Given the description of an element on the screen output the (x, y) to click on. 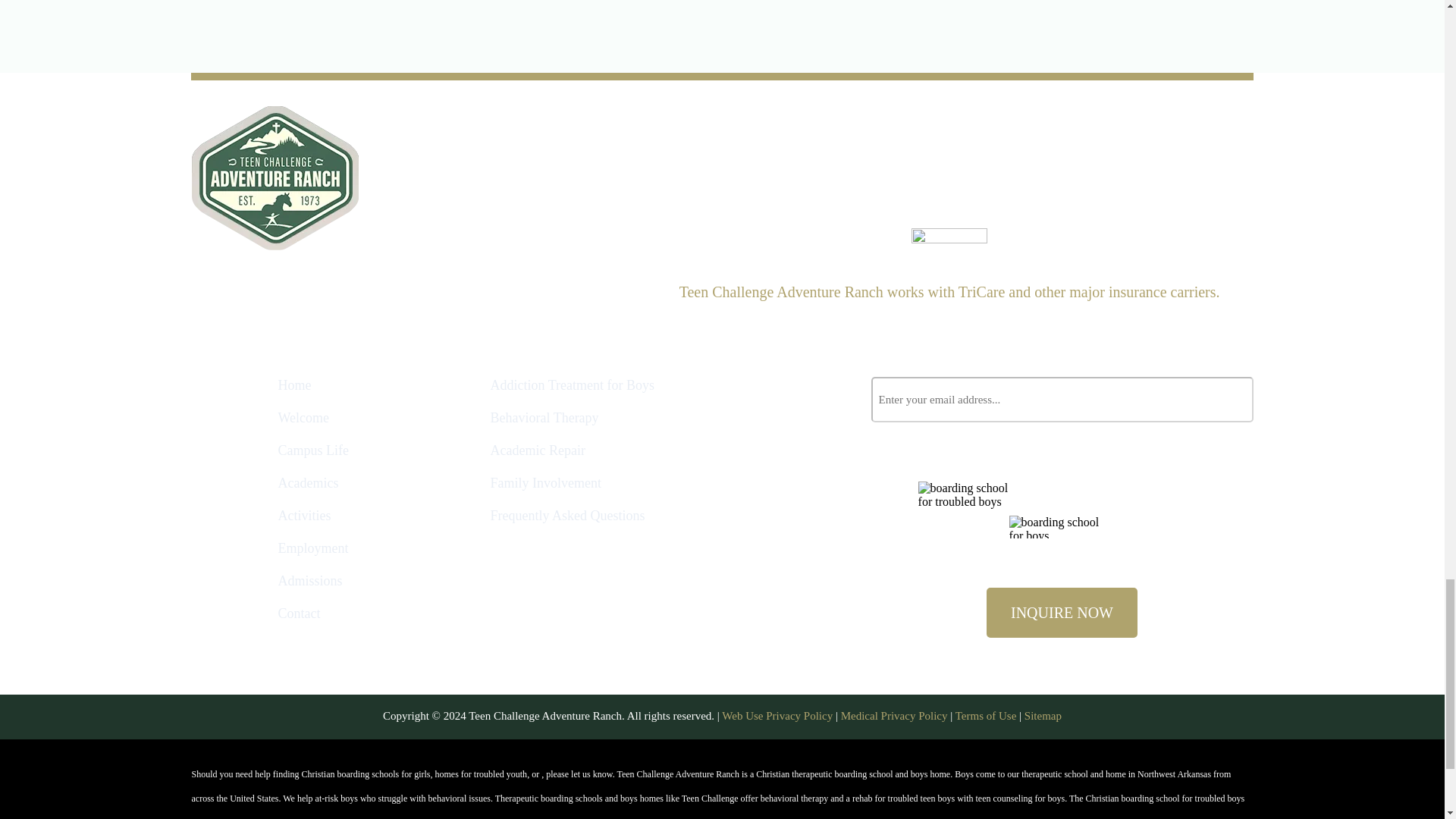
Submit (1225, 399)
